Given the description of an element on the screen output the (x, y) to click on. 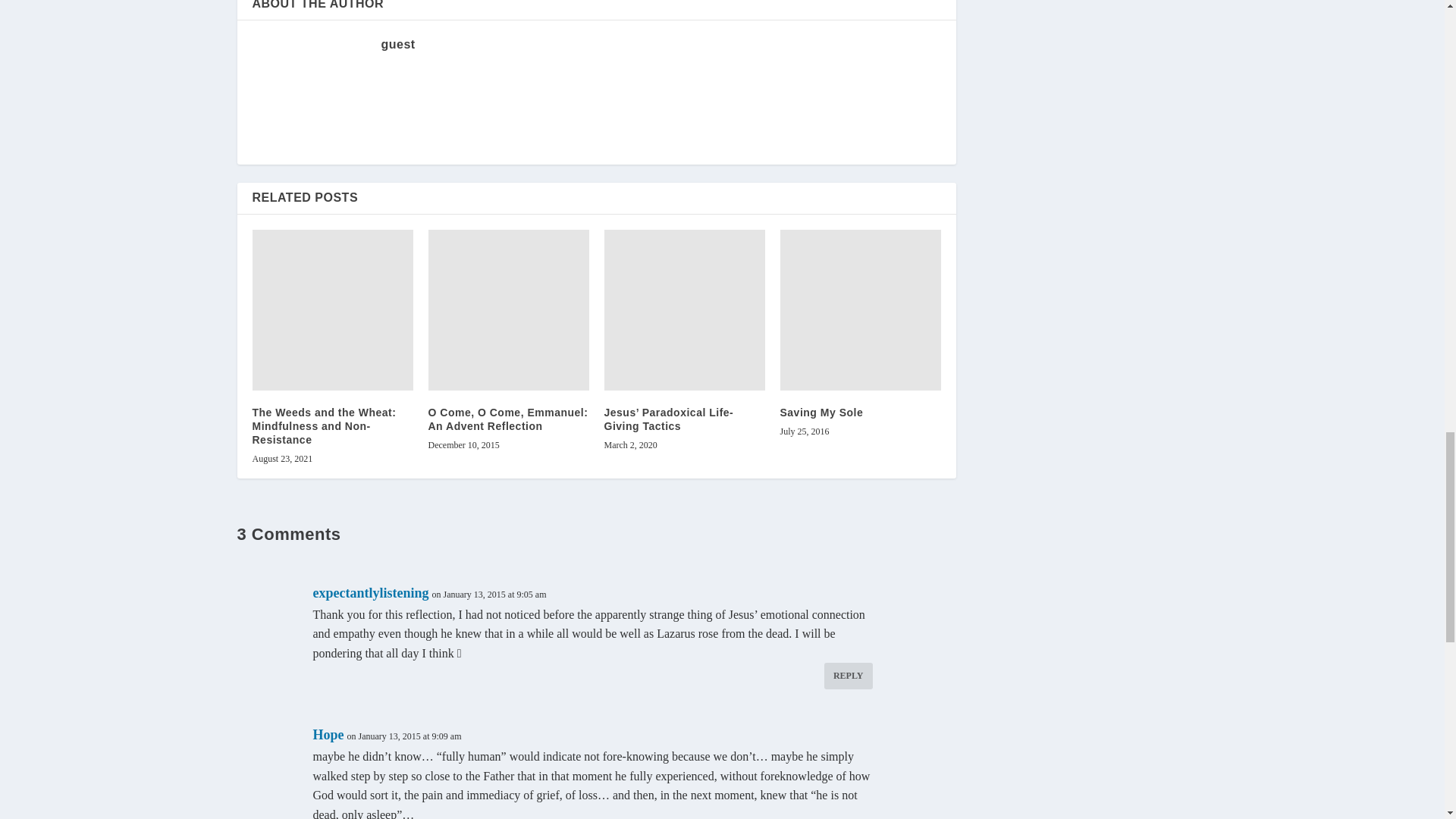
Paving the Road to Serenity (331, 190)
The Ministry of Remembering (508, 190)
